Given the description of an element on the screen output the (x, y) to click on. 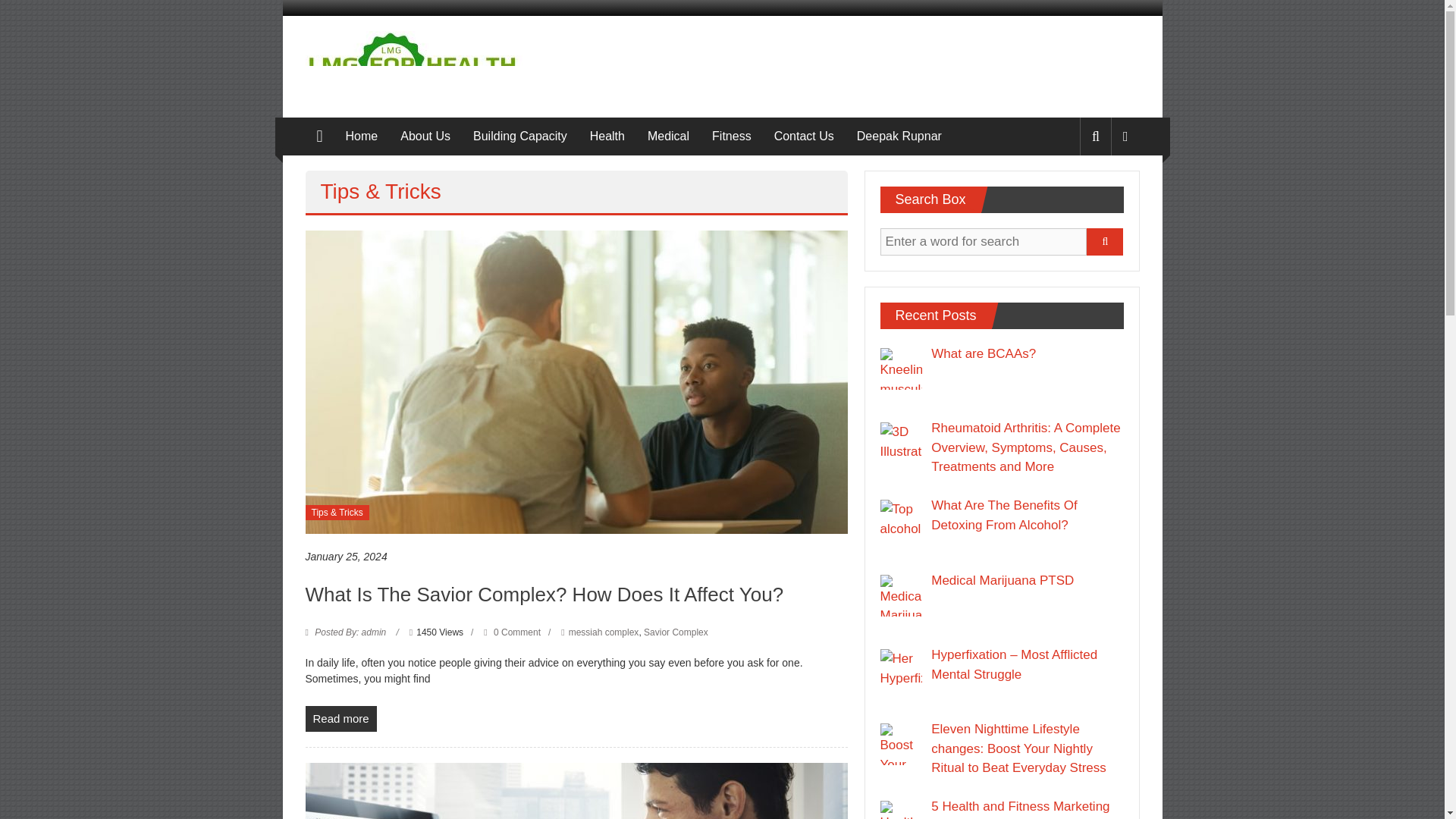
messiah complex (604, 632)
Health (606, 136)
0 Comment (511, 632)
Savior Complex (675, 632)
Medical (667, 136)
What Is The Savior Complex? How Does It Affect You? (543, 594)
Building Capacity (520, 136)
Deepak Rupnar (899, 136)
January 25, 2024 (345, 556)
Contact Us (804, 136)
What Is The Savior Complex? How Does It Affect You? (339, 718)
Fitness (731, 136)
admin (350, 632)
Posted By: admin (350, 632)
What Is The Savior Complex? How Does It Affect You? (575, 381)
